Given the description of an element on the screen output the (x, y) to click on. 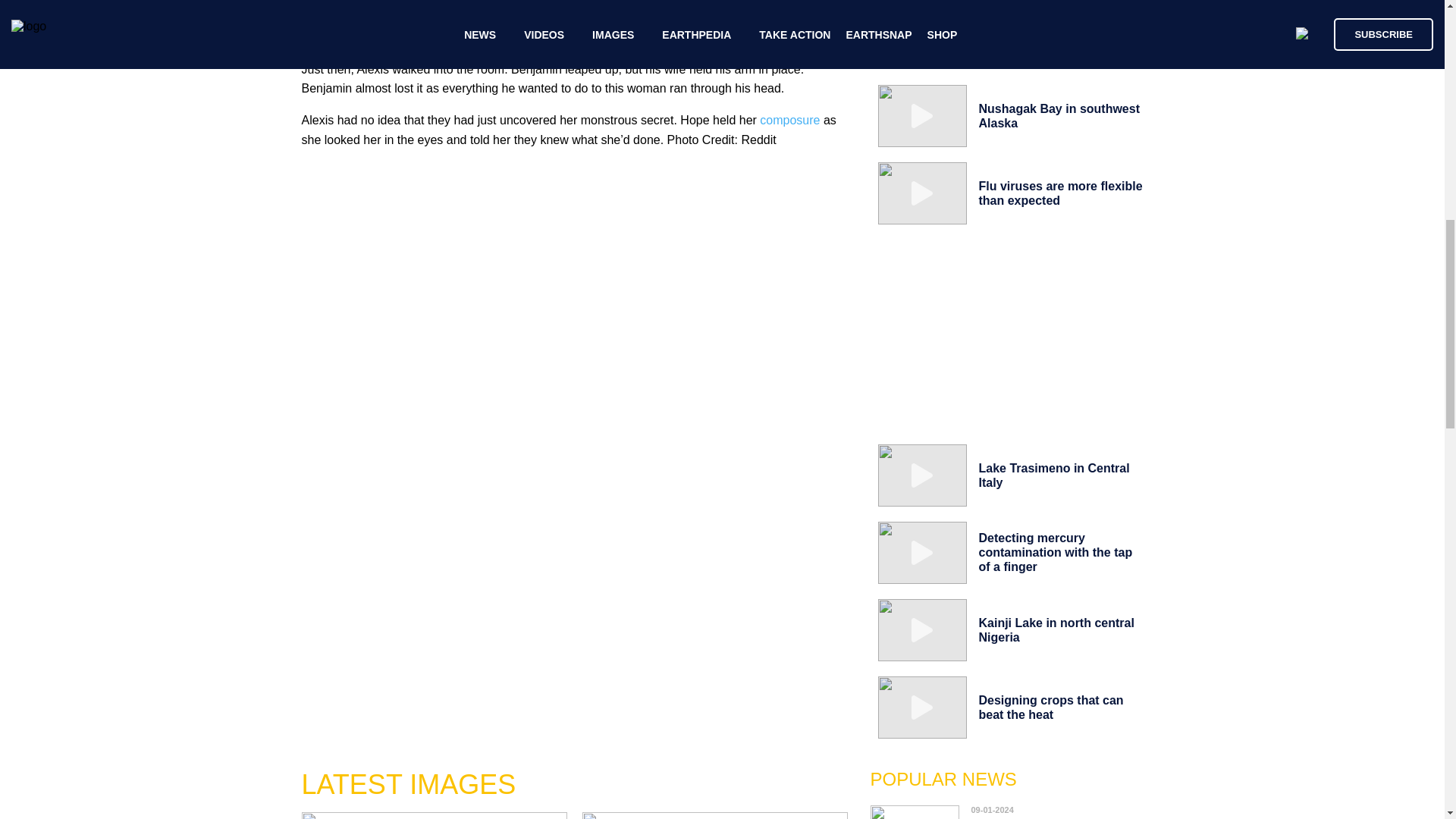
Lake Trasimeno in Central Italy (1053, 474)
Nushagak Bay in southwest Alaska (1059, 114)
Flu viruses are more flexible than expected (1059, 192)
composure (789, 119)
What powers the sun's supersonic solar wind? (1038, 815)
Designing crops that can beat the heat (1050, 706)
Kainji Lake in north central Nigeria (1056, 628)
Detecting mercury contamination with the tap of a finger (1055, 552)
